Given the description of an element on the screen output the (x, y) to click on. 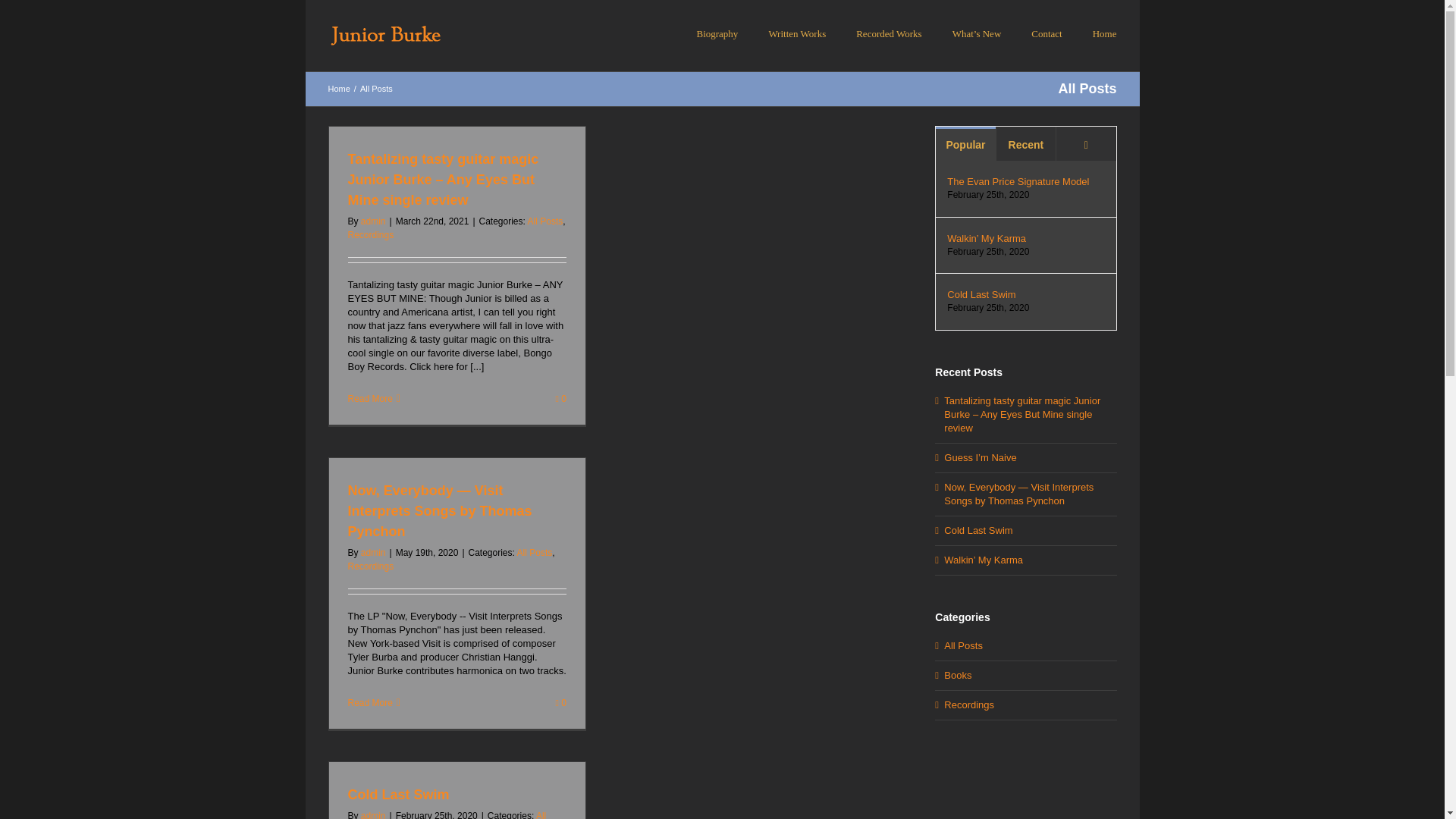
Read More (369, 398)
Recordings (370, 235)
admin (373, 221)
All Posts (545, 221)
admin (373, 814)
Home (338, 88)
Recorded Works (888, 32)
All Posts (446, 814)
Cold Last Swim (397, 794)
Read More (369, 702)
